Given the description of an element on the screen output the (x, y) to click on. 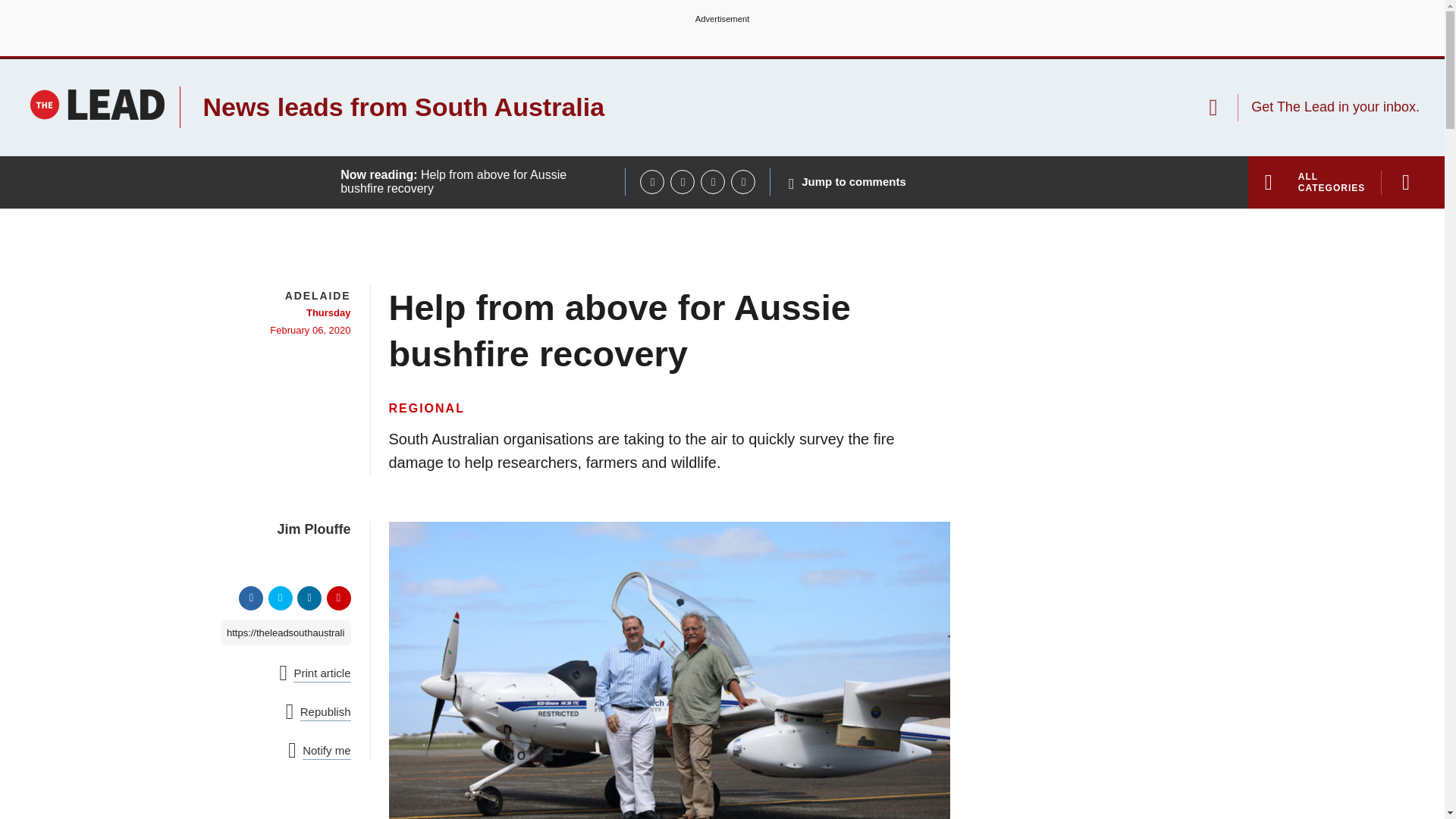
Print article (314, 673)
Republish (317, 712)
Jump to comments (847, 181)
Jim Plouffe (278, 529)
REGIONAL (426, 408)
Get The Lead in your inbox. (1313, 107)
Notify me (319, 751)
